Given the description of an element on the screen output the (x, y) to click on. 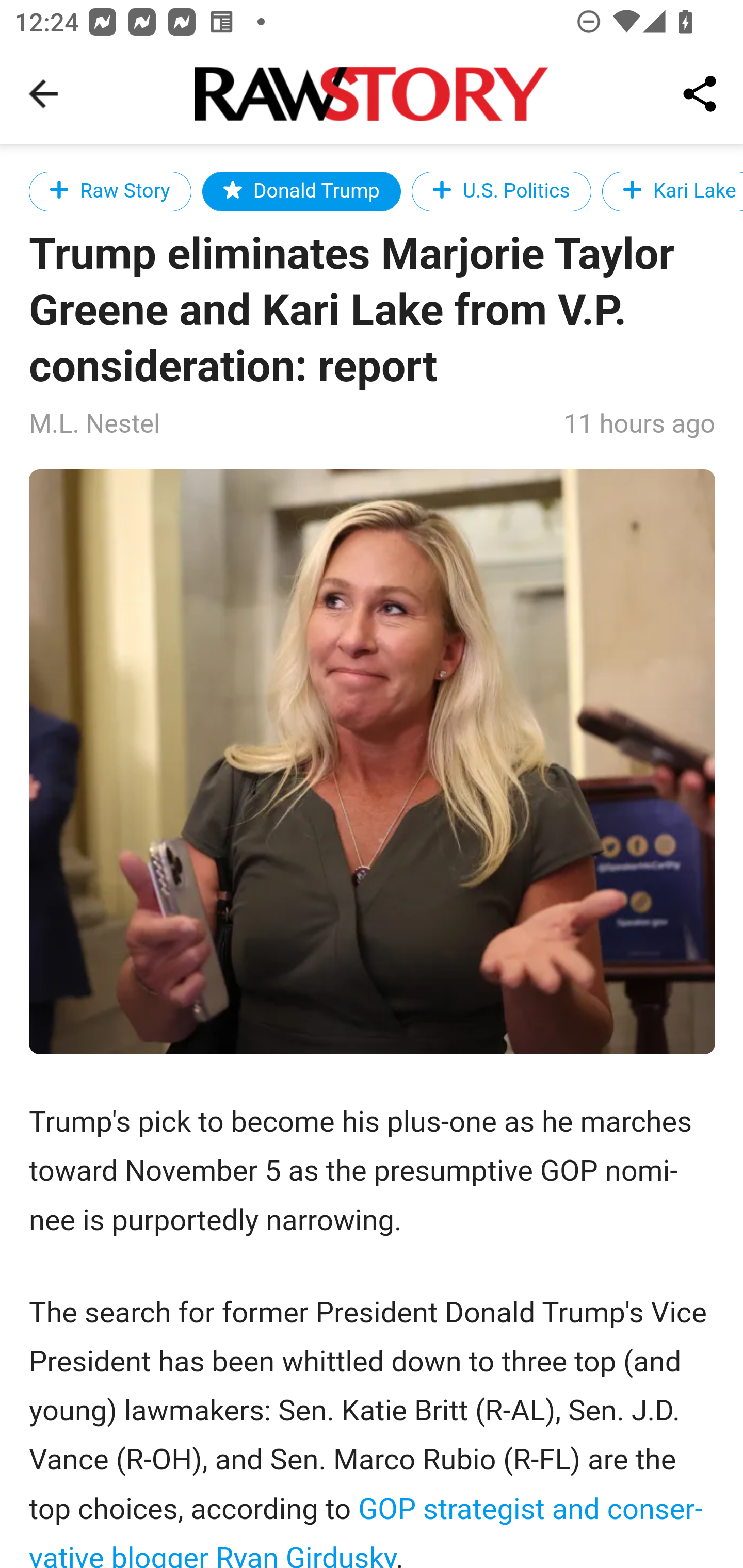
Raw Story (110, 191)
Donald Trump (300, 191)
U.S. Politics (500, 191)
Kari Lake (672, 191)
